Given the description of an element on the screen output the (x, y) to click on. 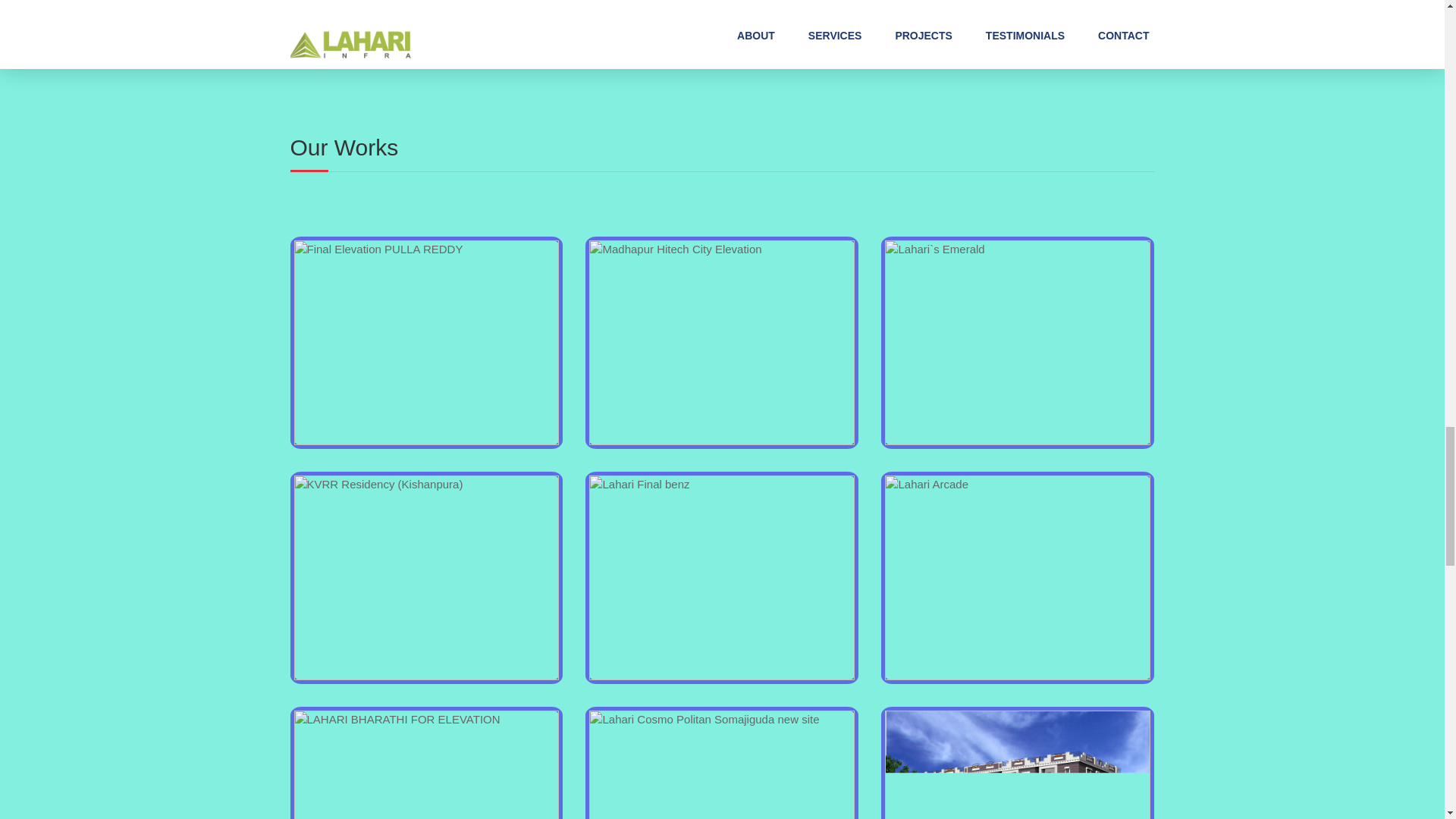
Lahari Final benz (721, 577)
Lahari Cosmo Politan Somajiguda new site (721, 764)
Lahari Arcade (1017, 577)
Madhapur Hitech City Elevation (721, 342)
Final Elevation PULLA REDDY (426, 342)
LAHARI BHARATHI FOR ELEVATION (426, 764)
